Given the description of an element on the screen output the (x, y) to click on. 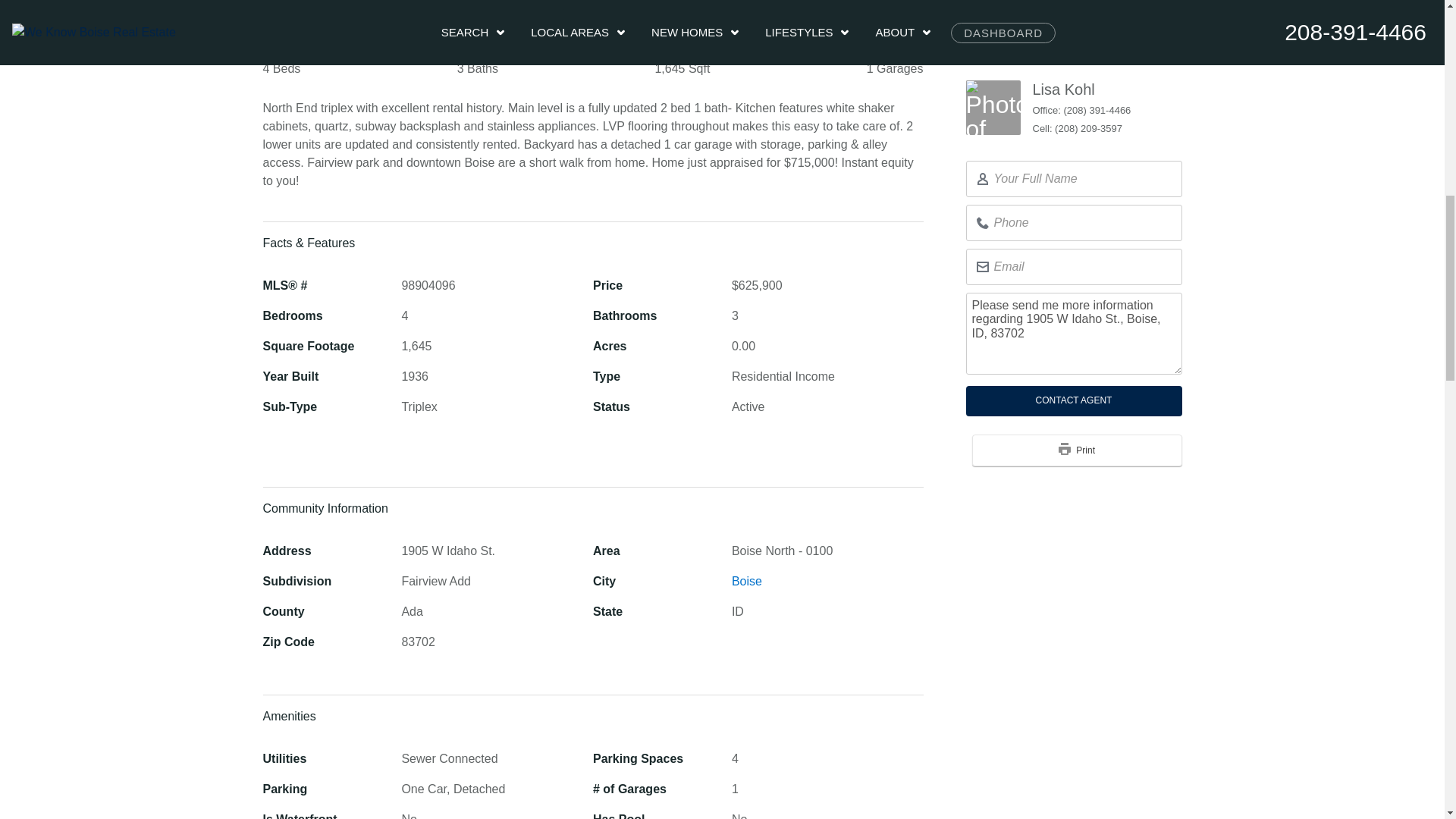
Print This Listing (1077, 406)
Print This Listing (1064, 404)
